Given the description of an element on the screen output the (x, y) to click on. 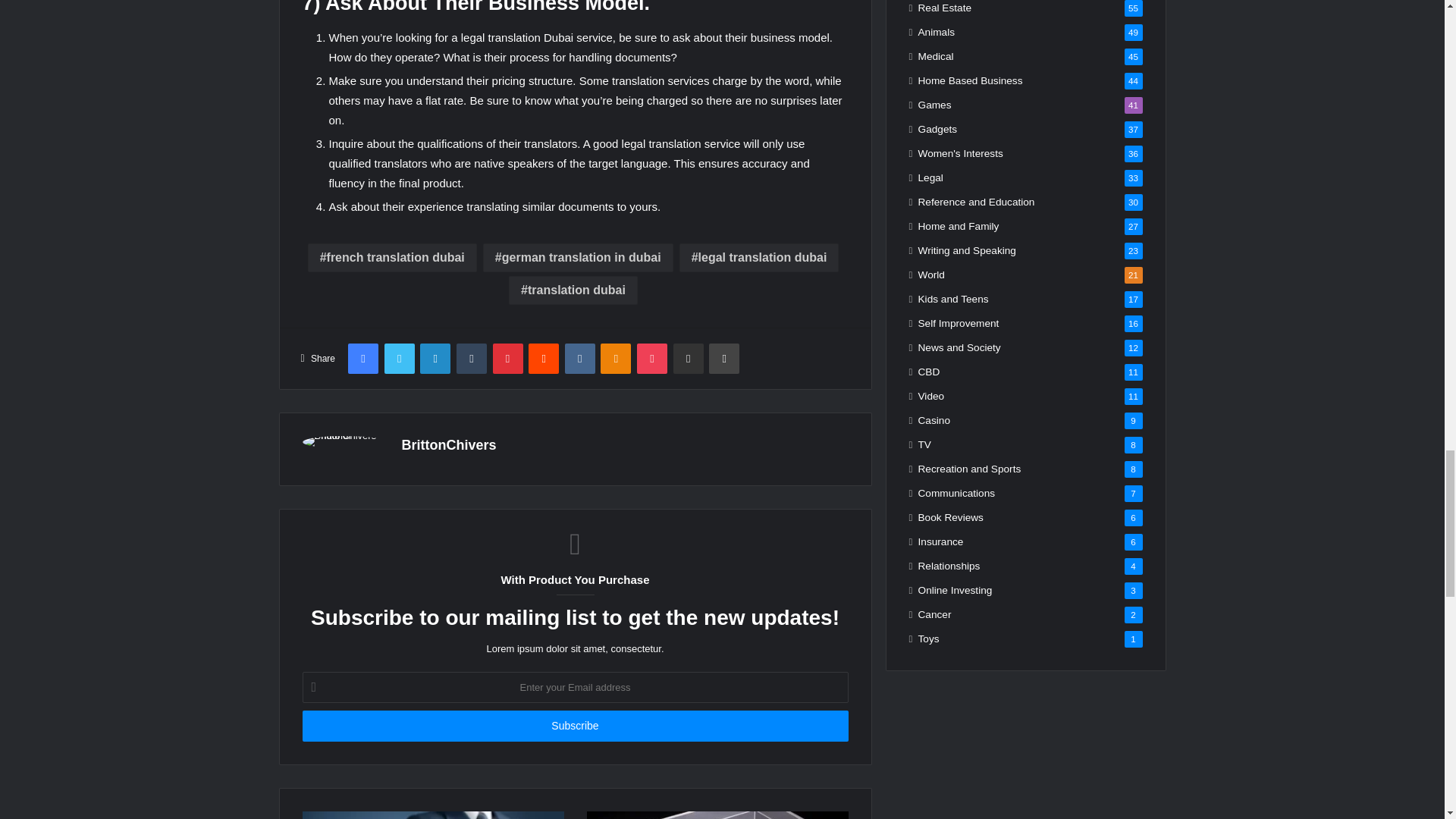
Subscribe (574, 726)
french translation dubai (392, 257)
